Given the description of an element on the screen output the (x, y) to click on. 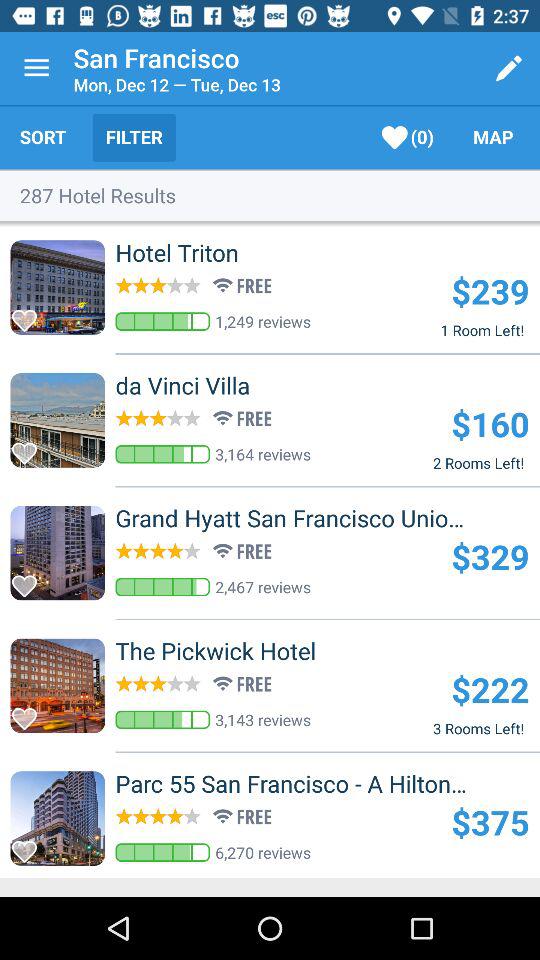
select 1,249 reviews item (263, 321)
